Given the description of an element on the screen output the (x, y) to click on. 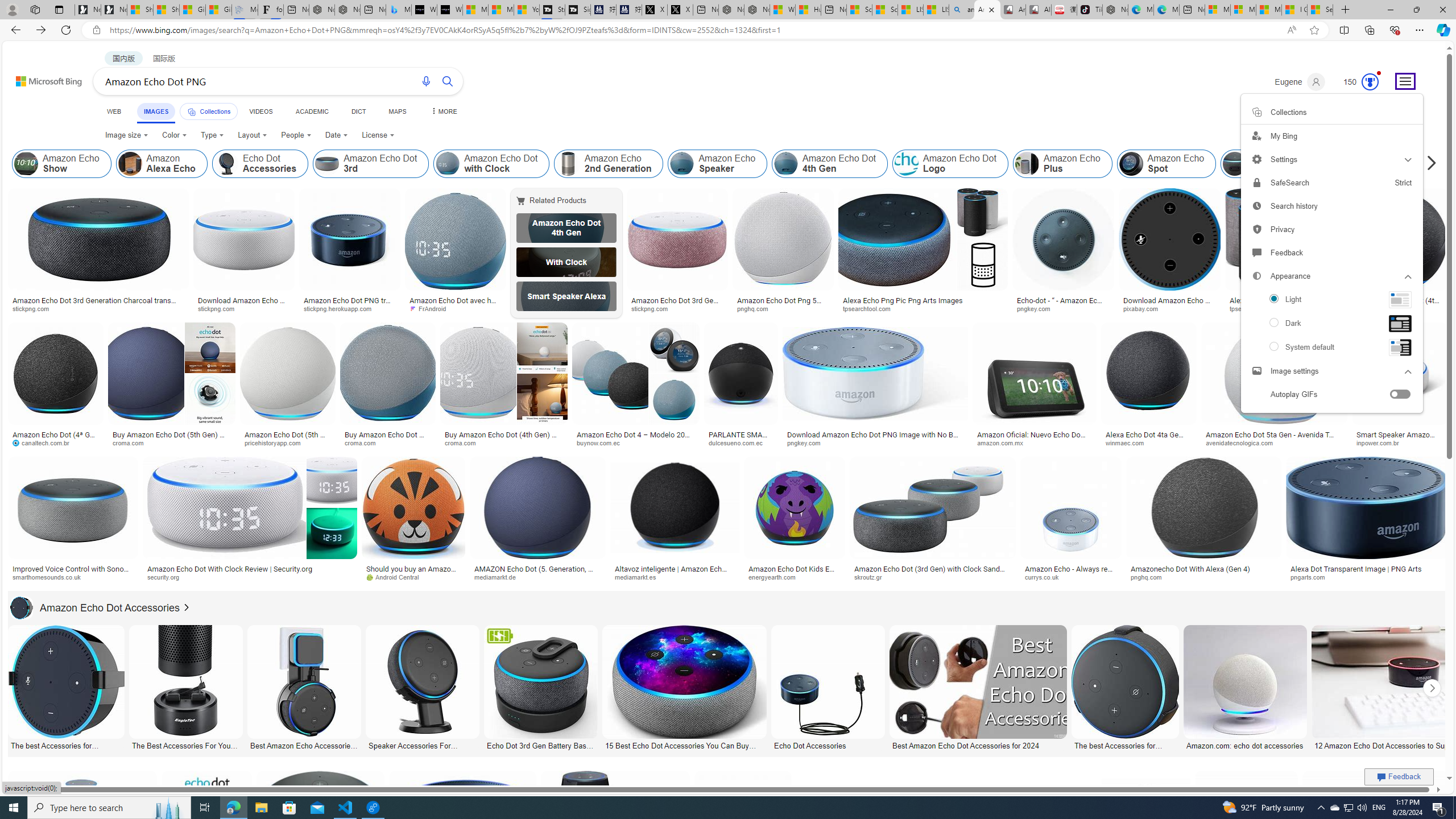
Amazon Echo 2nd Generation (608, 163)
Image size (126, 135)
My Bing (1331, 136)
Autoplay GIFs (1332, 395)
Amazon Echo Dot with Clock (447, 163)
License (378, 135)
